Given the description of an element on the screen output the (x, y) to click on. 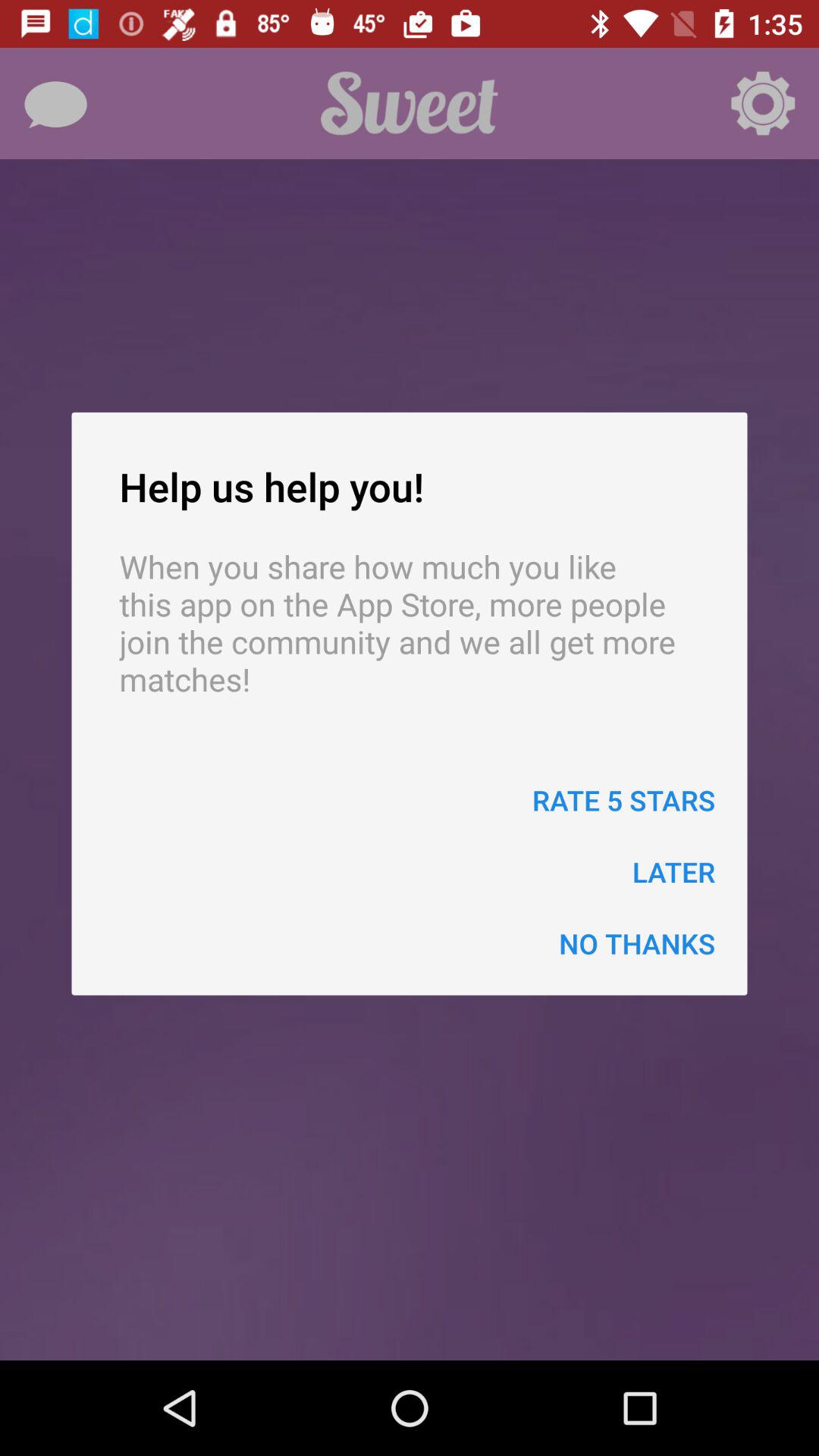
scroll to the later item (673, 871)
